Given the description of an element on the screen output the (x, y) to click on. 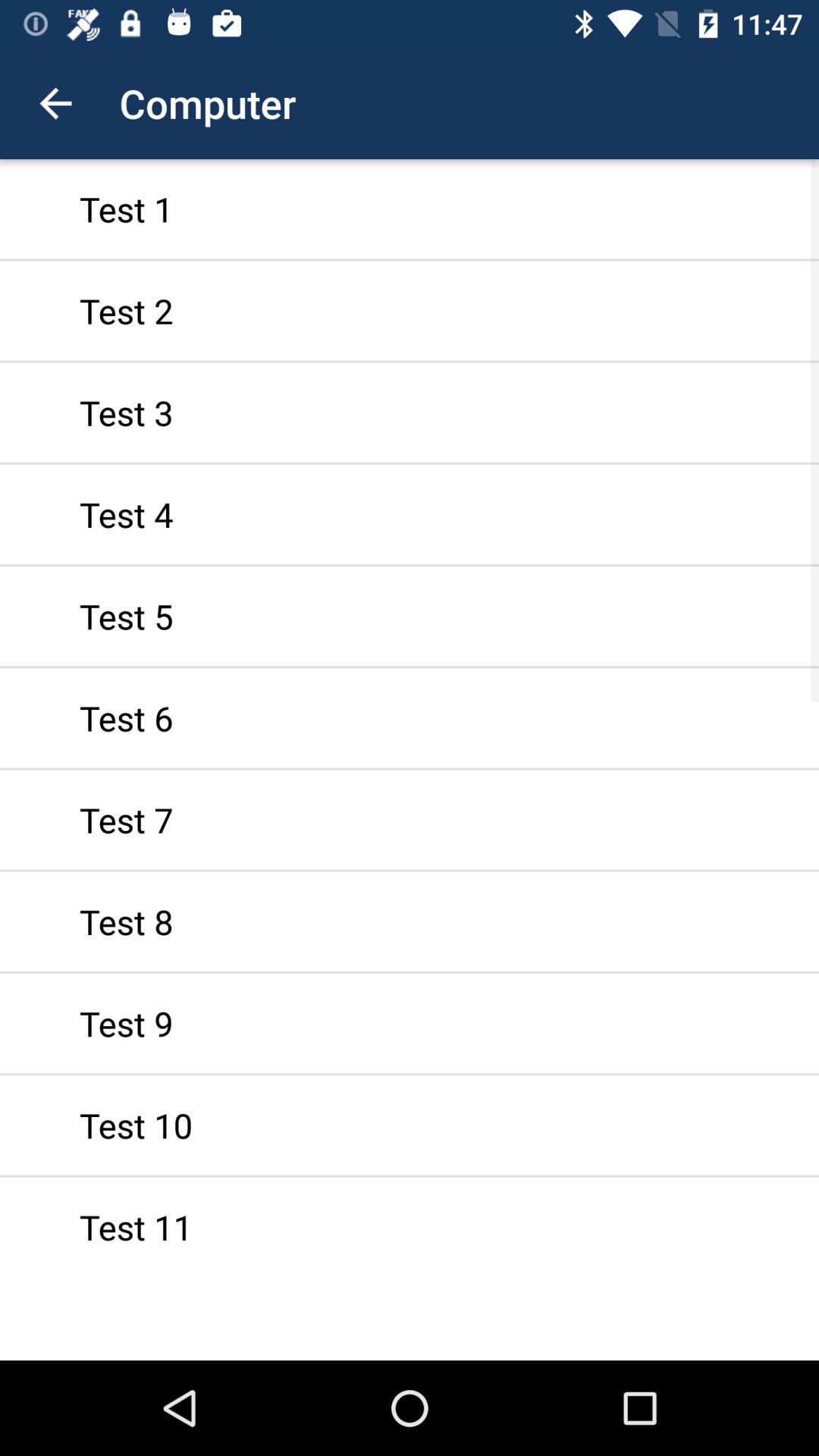
choose icon above the test 11 item (409, 1125)
